Given the description of an element on the screen output the (x, y) to click on. 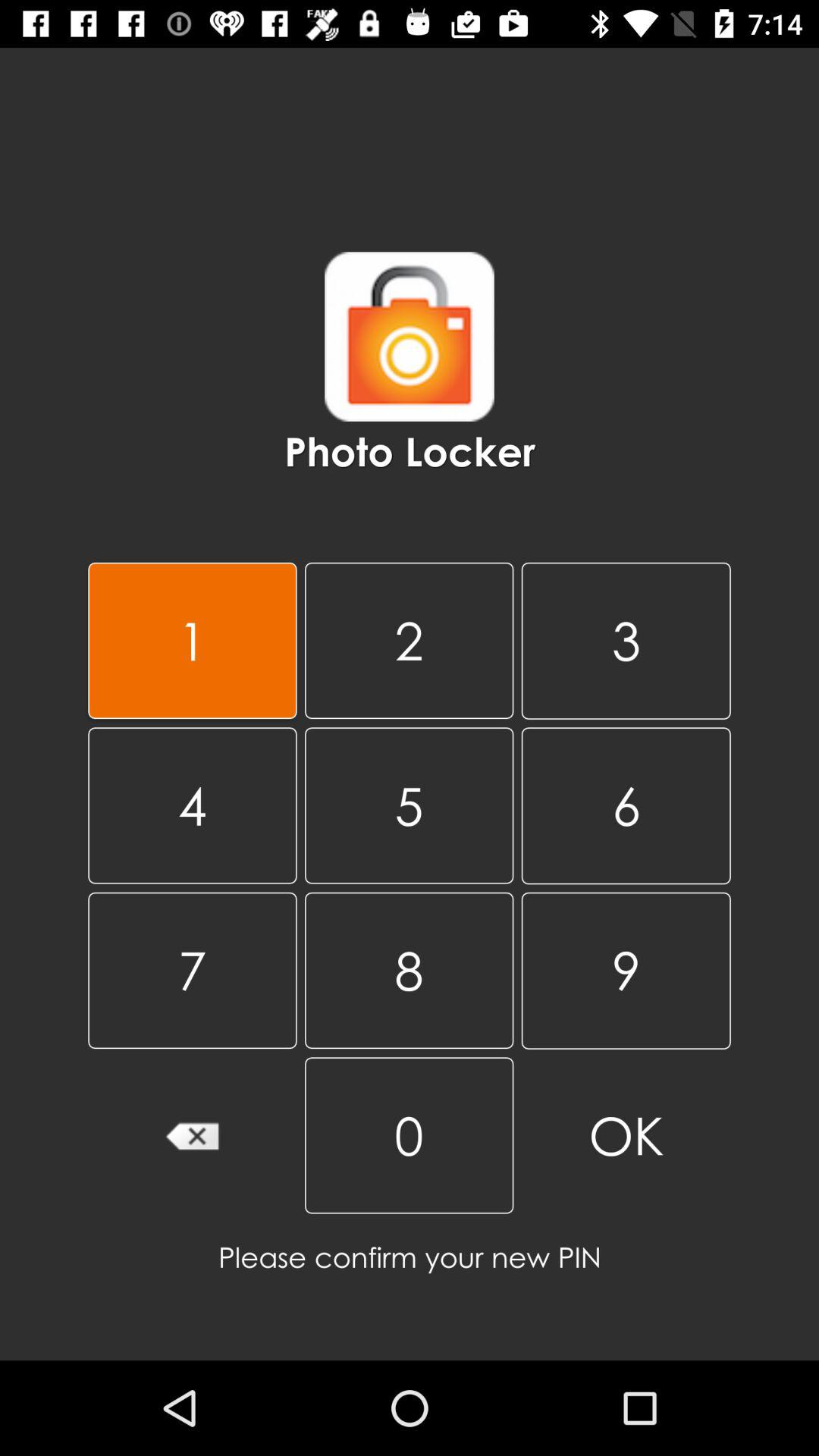
click item below 6 (625, 970)
